Given the description of an element on the screen output the (x, y) to click on. 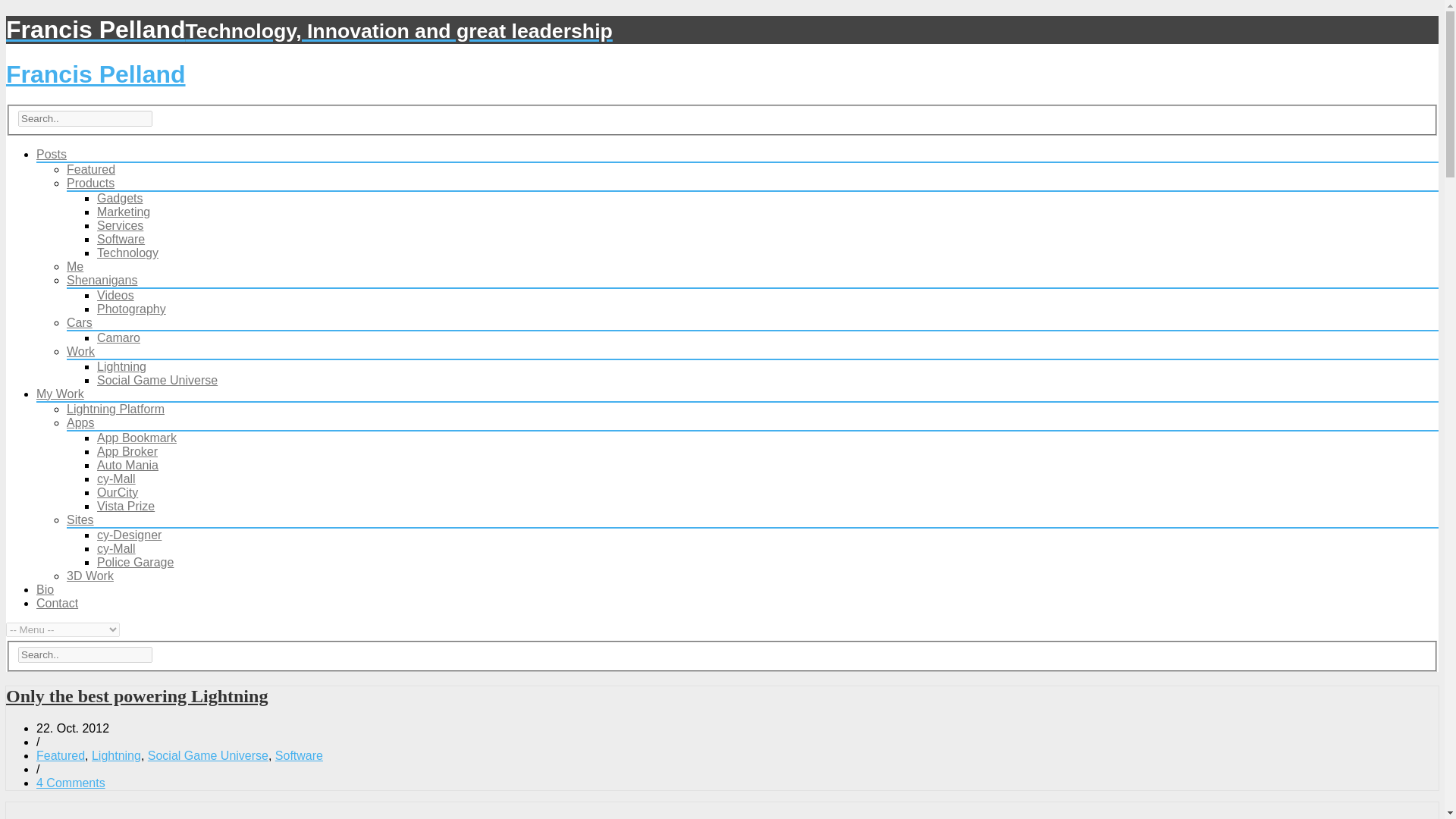
Camaro (118, 337)
Products (90, 182)
App Broker (127, 451)
3D Work (89, 575)
View all posts in Featured (60, 755)
Bio (44, 589)
View all posts in Social Game Universe (207, 755)
Sites (80, 519)
Software (120, 238)
Posts (51, 154)
Videos (115, 295)
cy-Mall (116, 478)
Shenanigans (101, 279)
Work (80, 350)
Police Garage (135, 562)
